Given the description of an element on the screen output the (x, y) to click on. 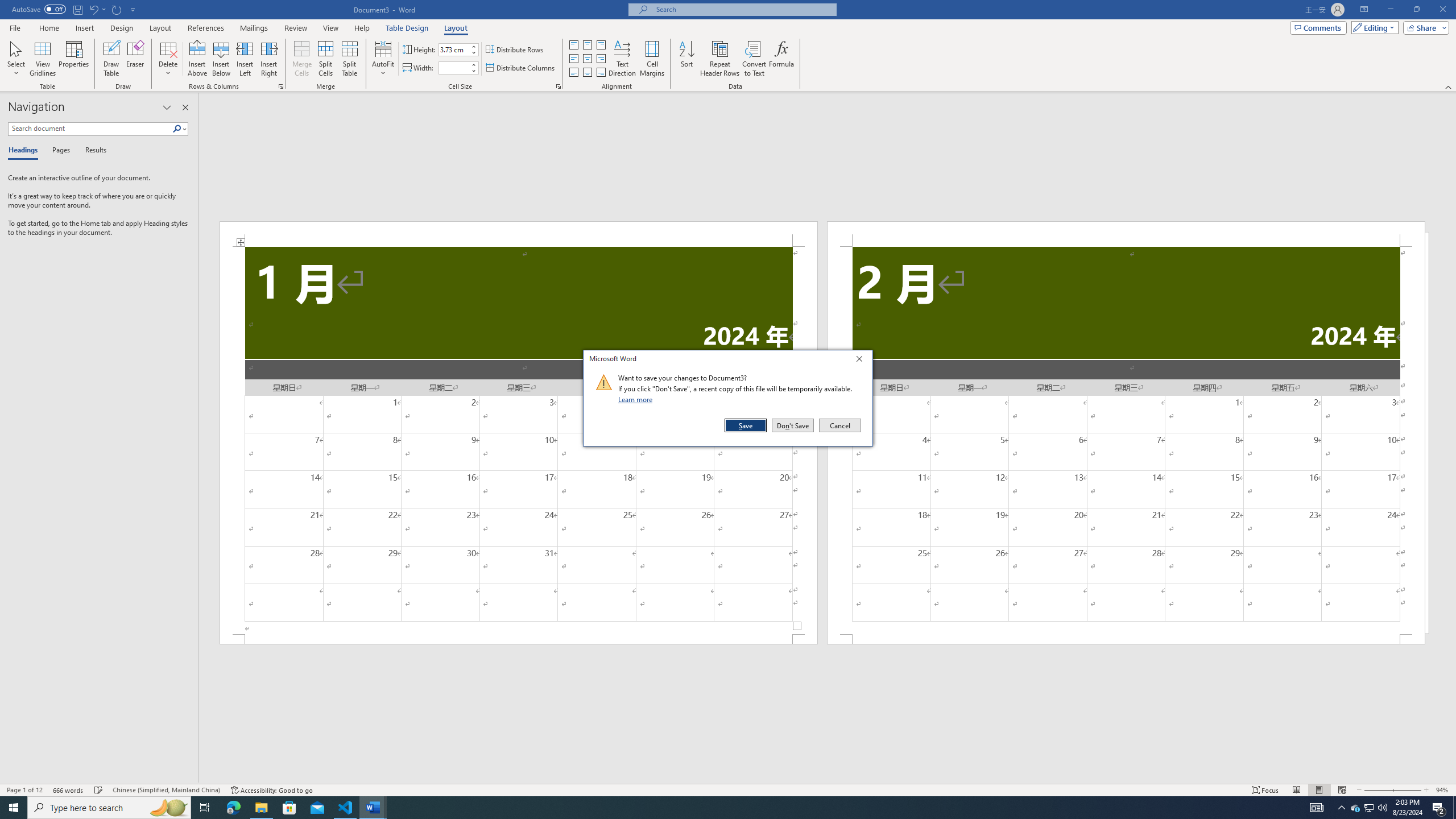
Table Column Width (453, 67)
Properties... (558, 85)
